Given the description of an element on the screen output the (x, y) to click on. 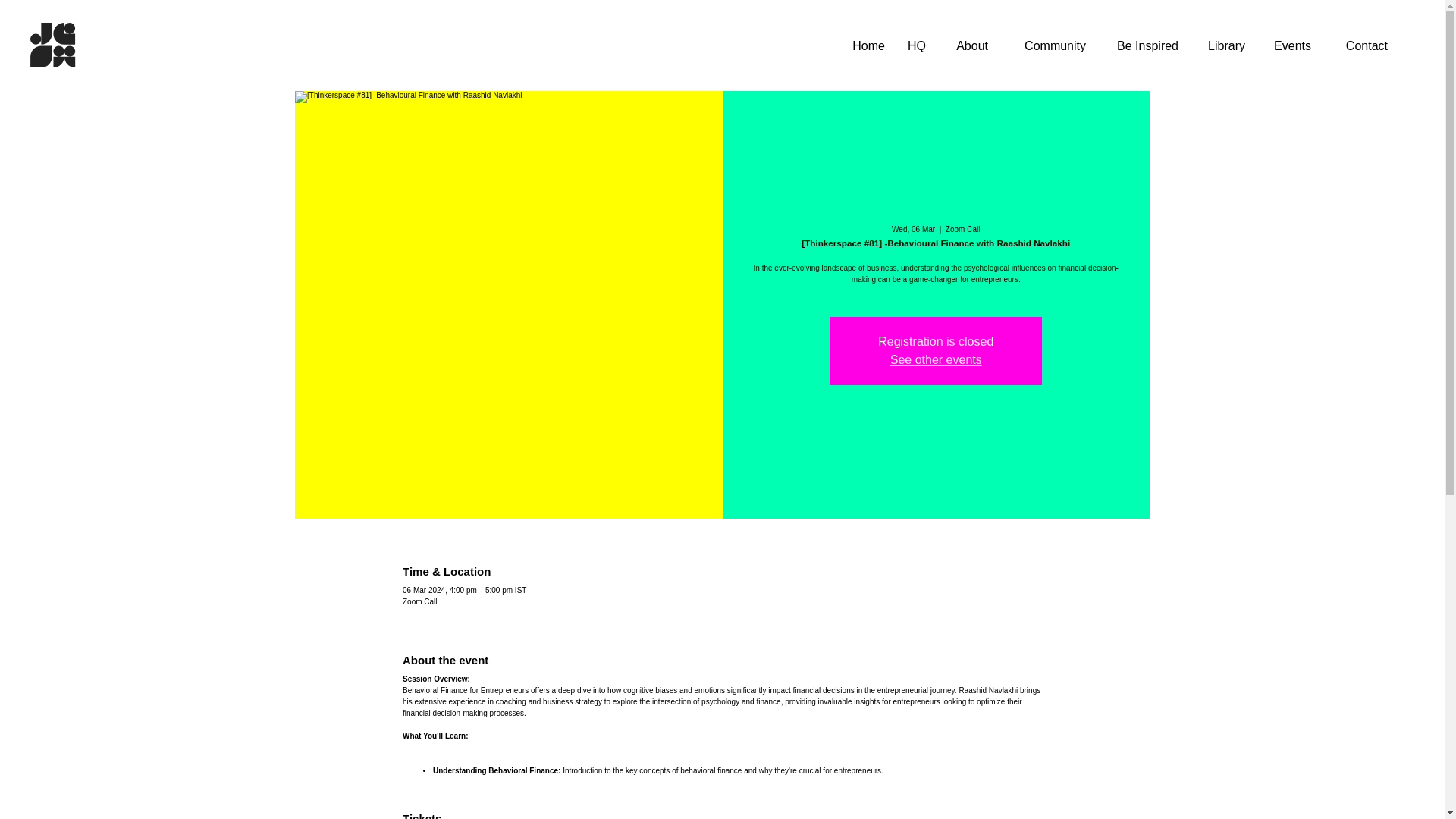
See other events (935, 359)
Library (1222, 45)
Events (1289, 45)
HQ (916, 45)
Home (865, 45)
Community (1047, 45)
Contact (1360, 45)
About (967, 45)
Be Inspired (1143, 45)
